Given the description of an element on the screen output the (x, y) to click on. 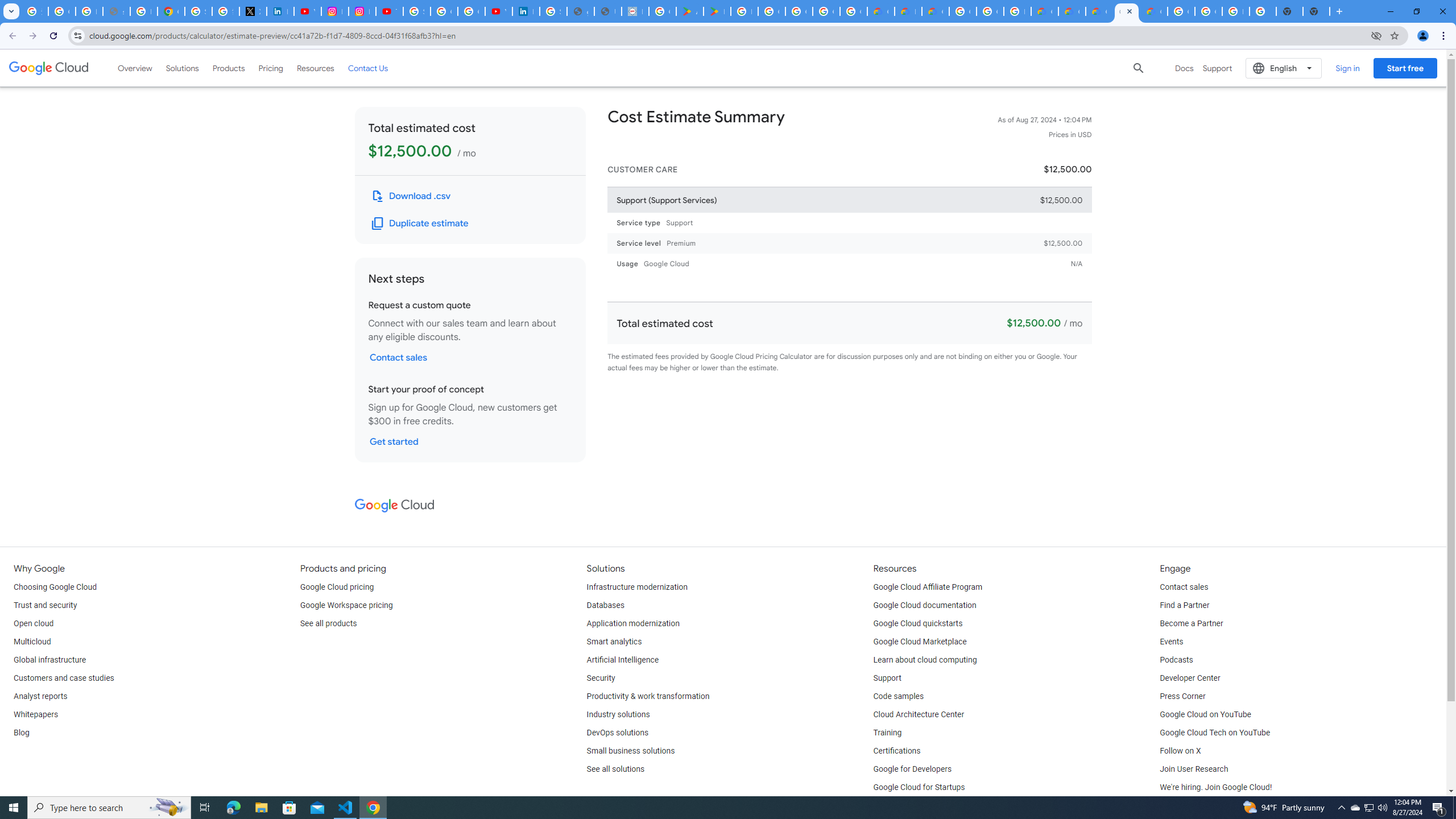
Support (887, 678)
YouTube Content Monetization Policies - How YouTube Works (307, 11)
Android Apps on Google Play (690, 11)
Duplicate this estimate (420, 223)
Customer Care | Google Cloud (1044, 11)
Products (228, 67)
Contact sales (1183, 587)
We're hiring. Join Google Cloud! (1215, 787)
Google Cloud Estimate Summary (1099, 11)
Google Cloud pricing (336, 587)
Developer Center (1189, 678)
See all solutions (615, 769)
